Given the description of an element on the screen output the (x, y) to click on. 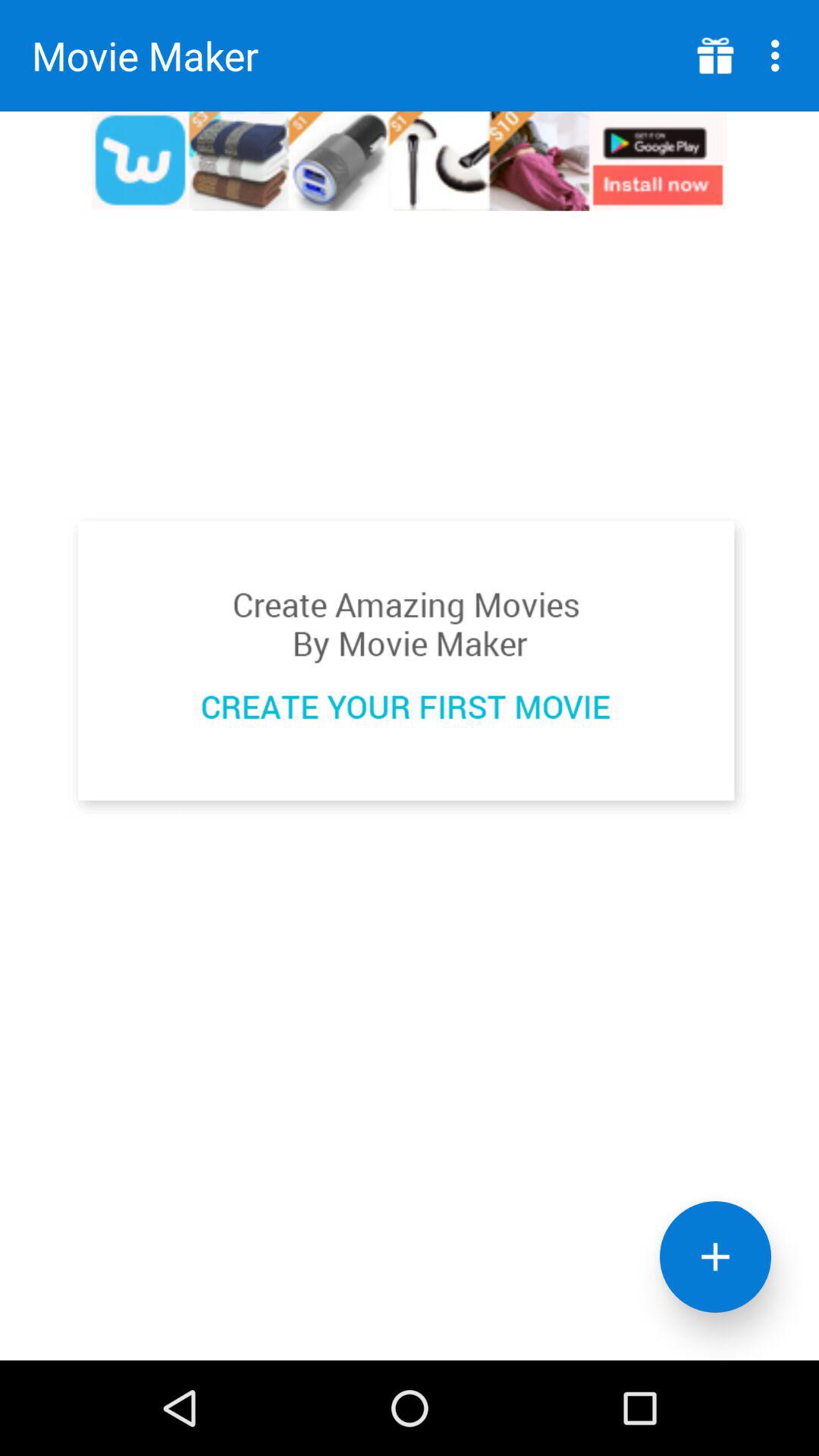
add selection (715, 1256)
